Given the description of an element on the screen output the (x, y) to click on. 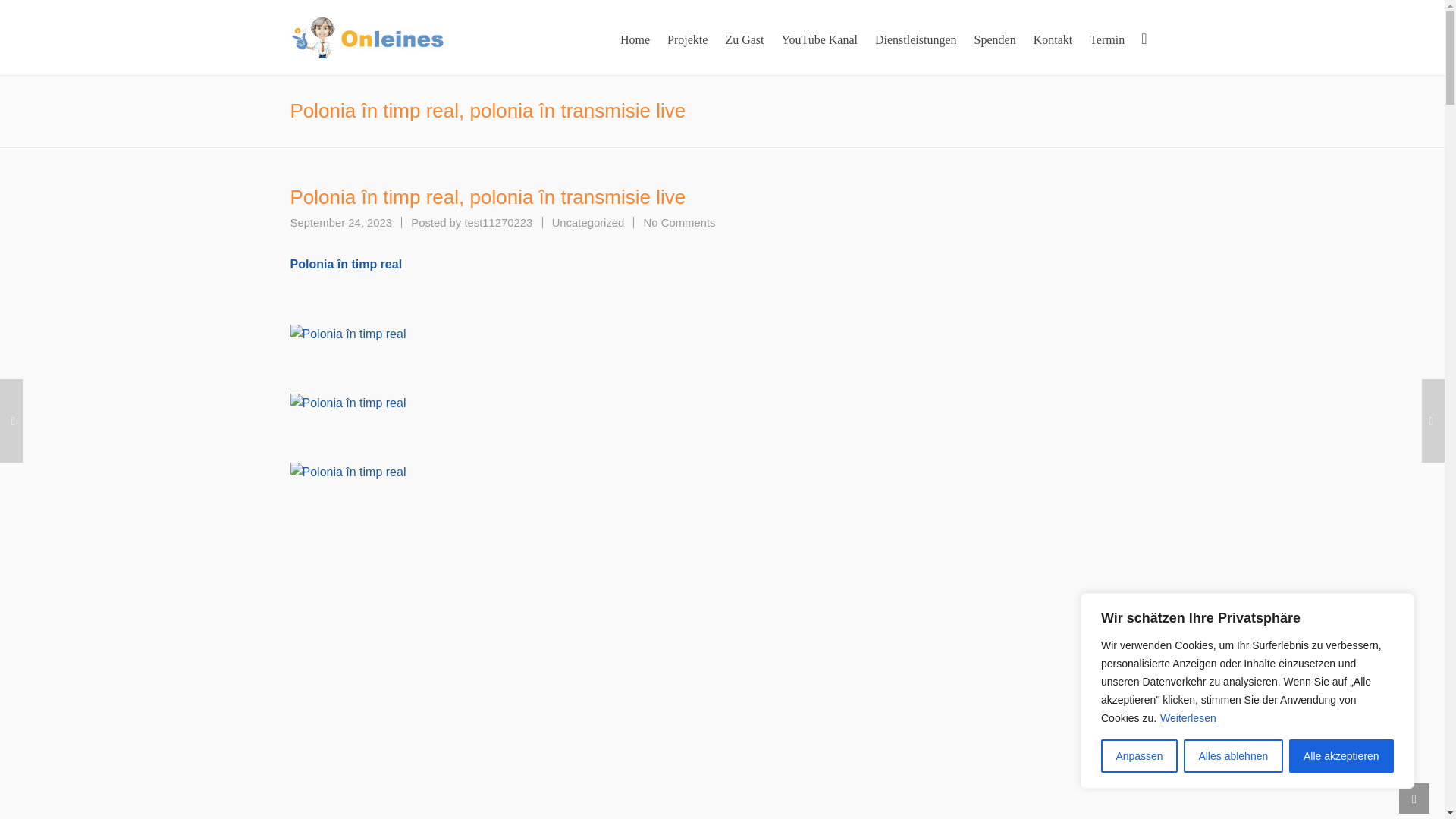
YouTube Kanal (819, 38)
Weiterlesen (1187, 717)
Uncategorized (587, 223)
Alle akzeptieren (1340, 756)
Anpassen (1138, 756)
test11270223 (498, 223)
Dienstleistungen (498, 223)
No Comments (915, 38)
No Comments (679, 223)
Alles ablehnen (679, 223)
